Given the description of an element on the screen output the (x, y) to click on. 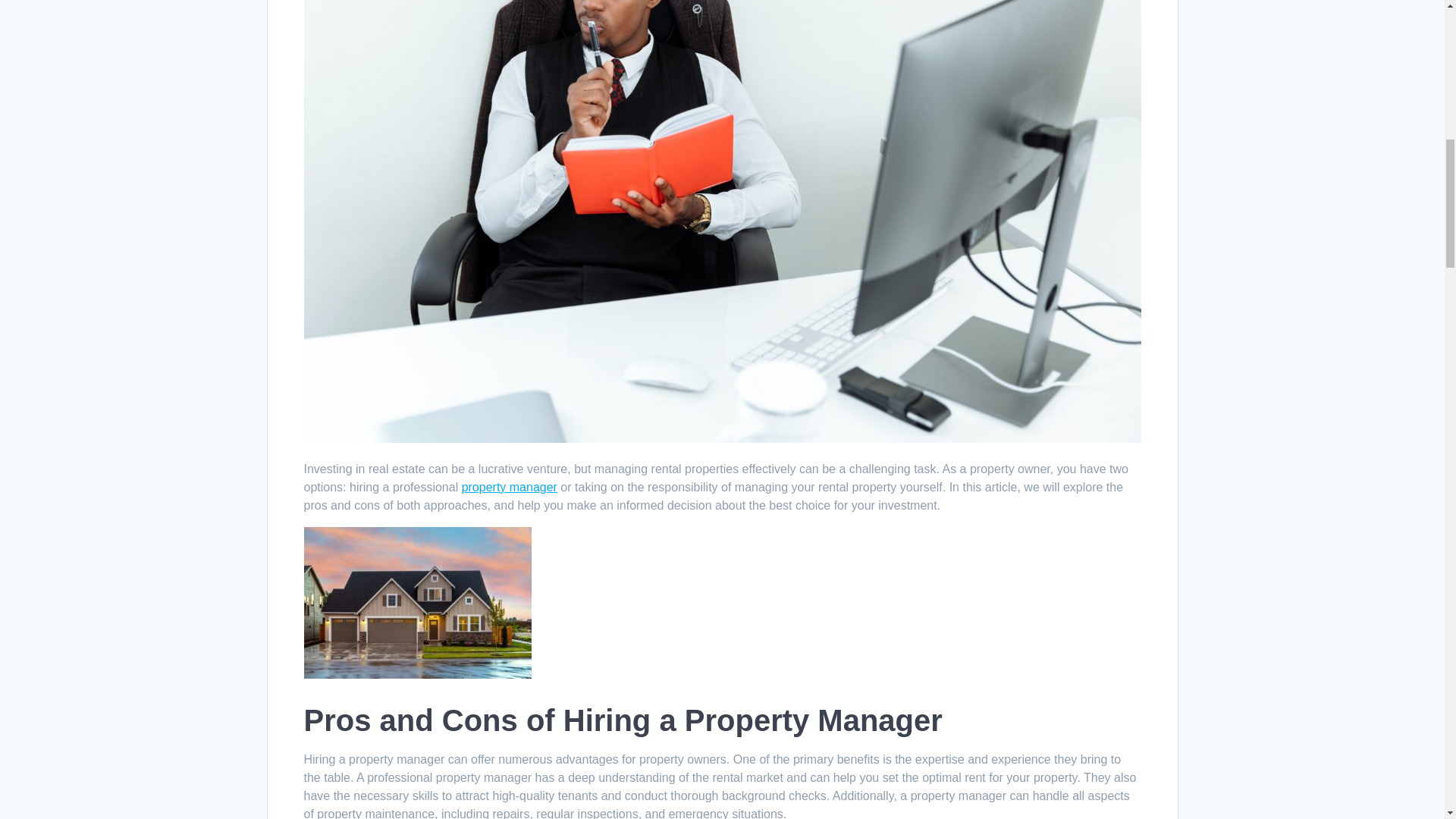
property manager (509, 486)
